Given the description of an element on the screen output the (x, y) to click on. 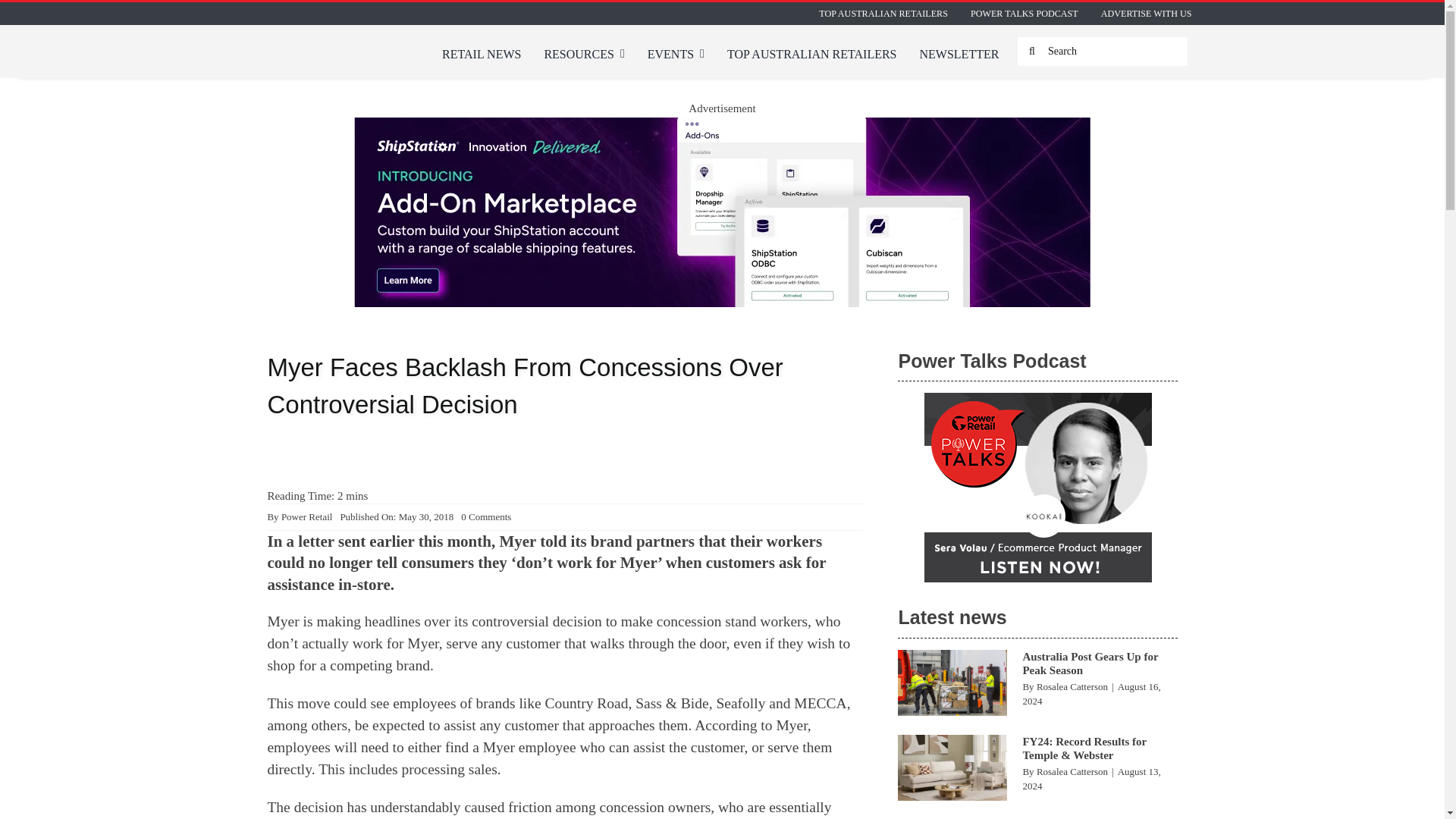
RESOURCES (583, 54)
EVENTS (675, 54)
TOP AUSTRALIAN RETAILERS (883, 13)
RETAIL NEWS (481, 54)
ADVERTISE WITH US (1146, 13)
TOP AUSTRALIAN RETAILERS (811, 54)
NEWSLETTER (959, 54)
Posts by Rosalea Catterson (1072, 771)
Posts by Rosalea Catterson (1072, 686)
Posts by Power Retail (307, 516)
